Given the description of an element on the screen output the (x, y) to click on. 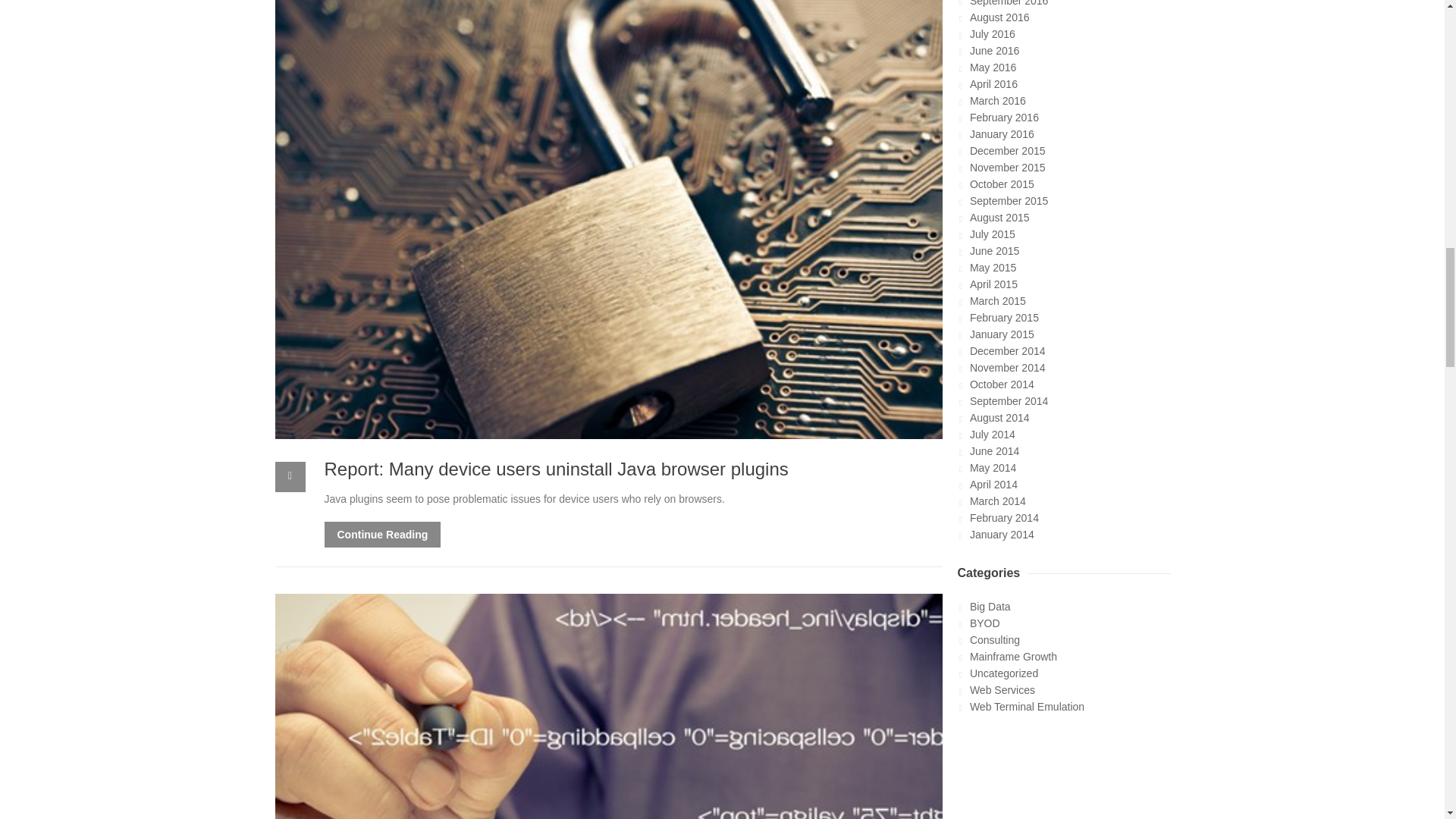
Report: Many device users uninstall Java browser plugins (556, 468)
Continue Reading (382, 534)
